Given the description of an element on the screen output the (x, y) to click on. 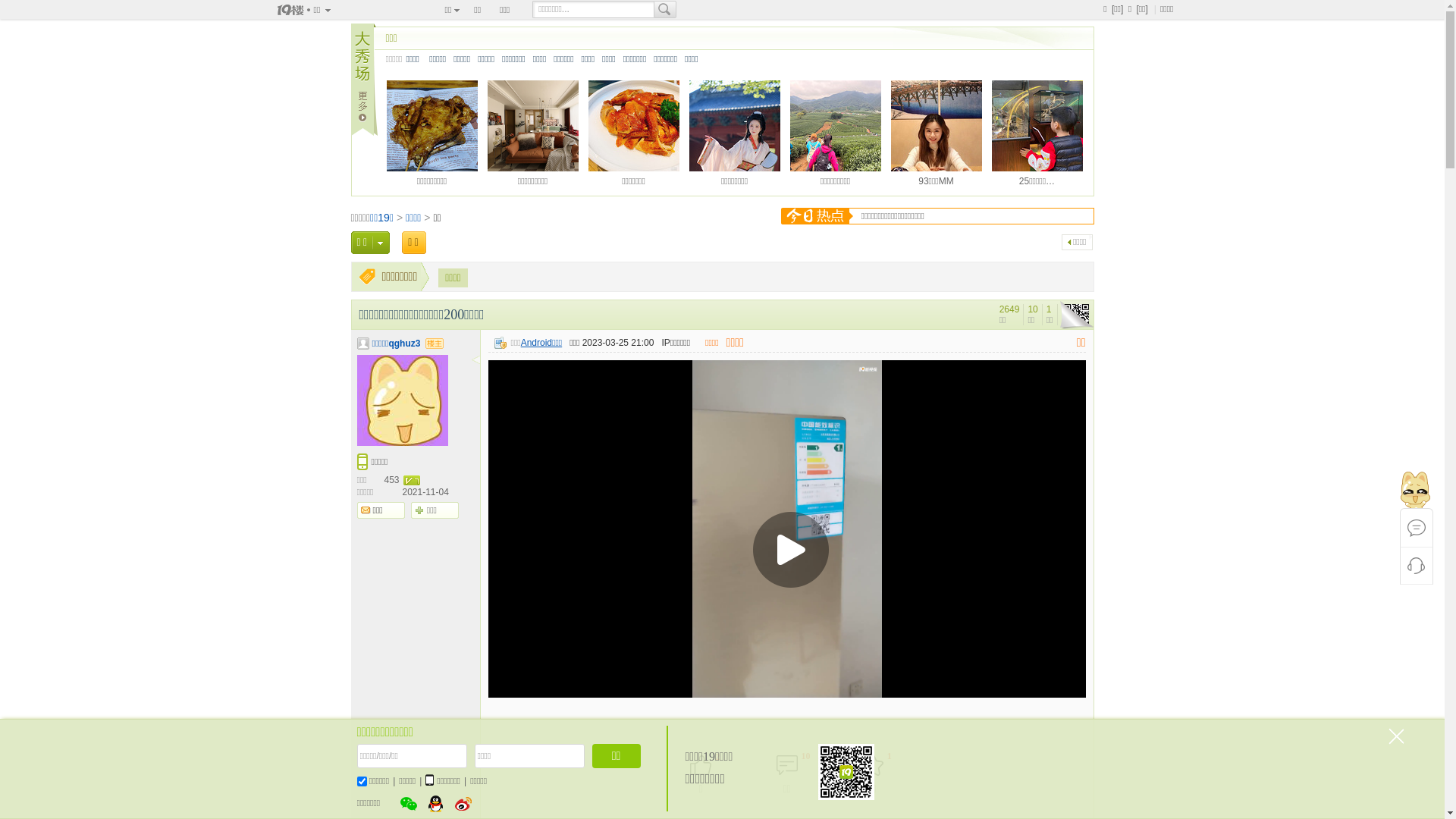
Play Video Element type: text (790, 549)
